Given the description of an element on the screen output the (x, y) to click on. 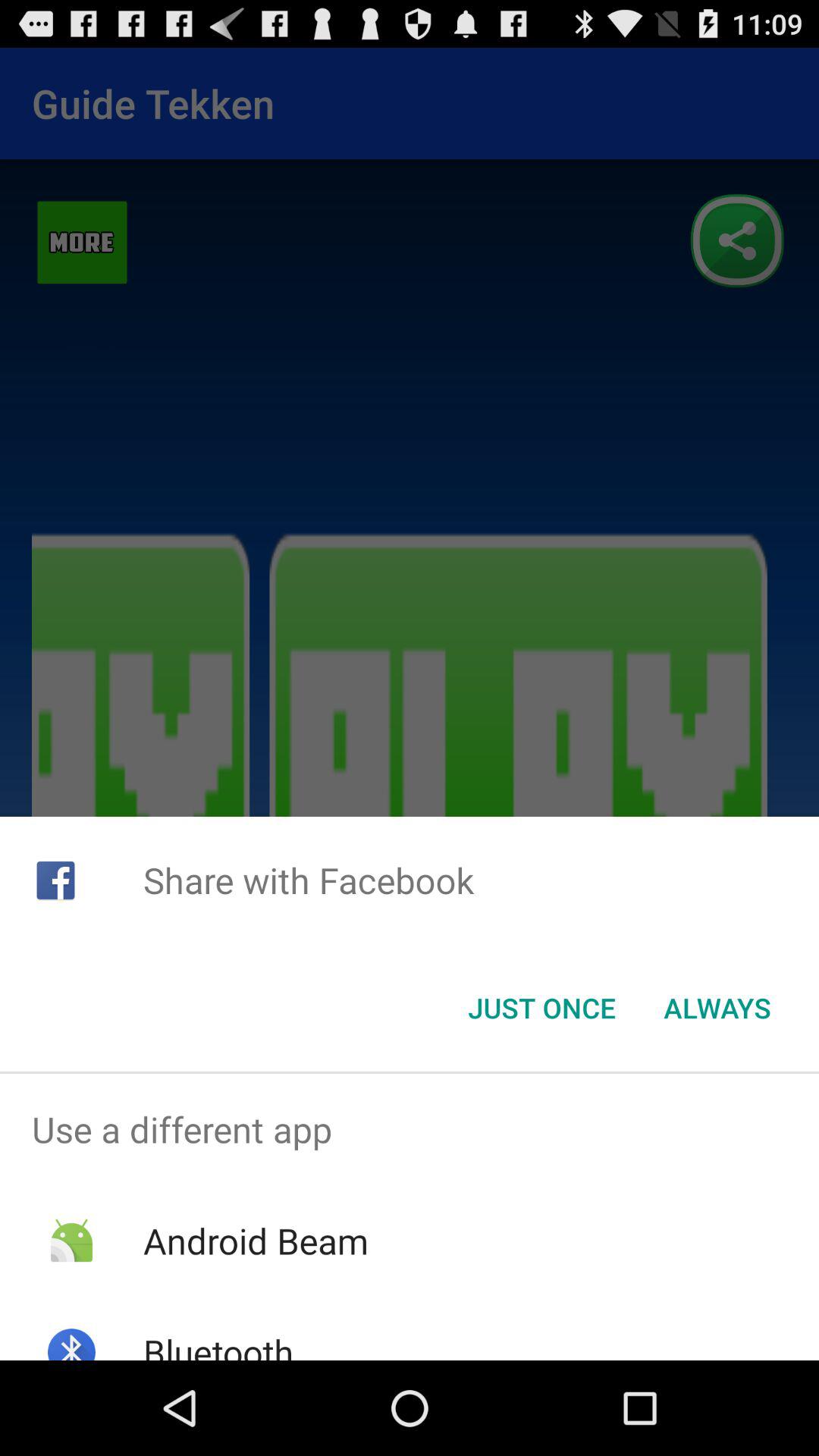
tap the item above the android beam item (409, 1129)
